Given the description of an element on the screen output the (x, y) to click on. 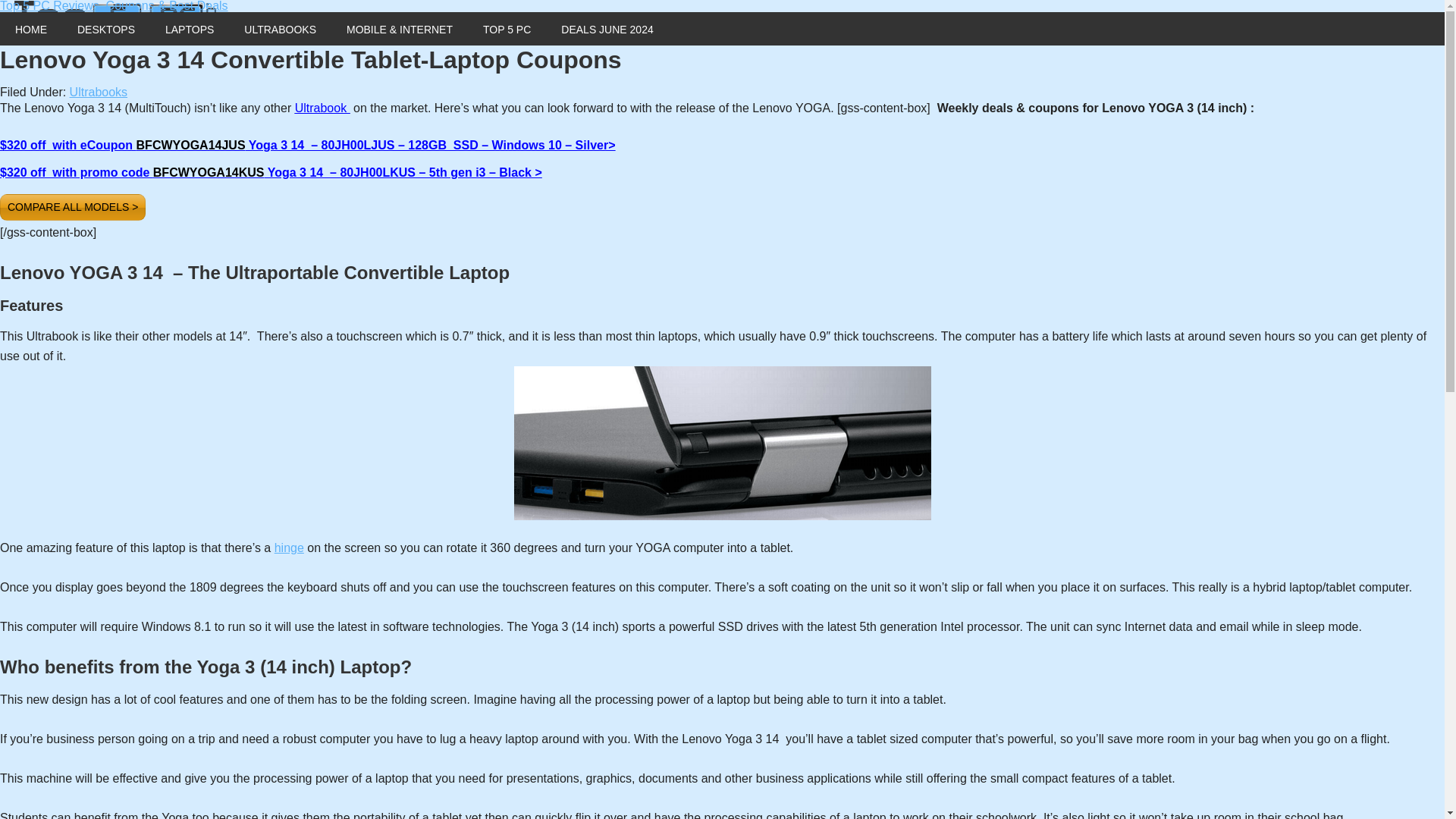
LAPTOPS (188, 28)
DEALS JUNE 2024 (607, 28)
Ultrabooks (98, 91)
DESKTOPS (105, 28)
hinge (289, 547)
HOME (31, 28)
Ultrabook (320, 107)
TOP 5 PC (506, 28)
ULTRABOOKS (279, 28)
Learn more about the Lenovo Yoga Lenovo YOGA 3 14  (722, 443)
